Given the description of an element on the screen output the (x, y) to click on. 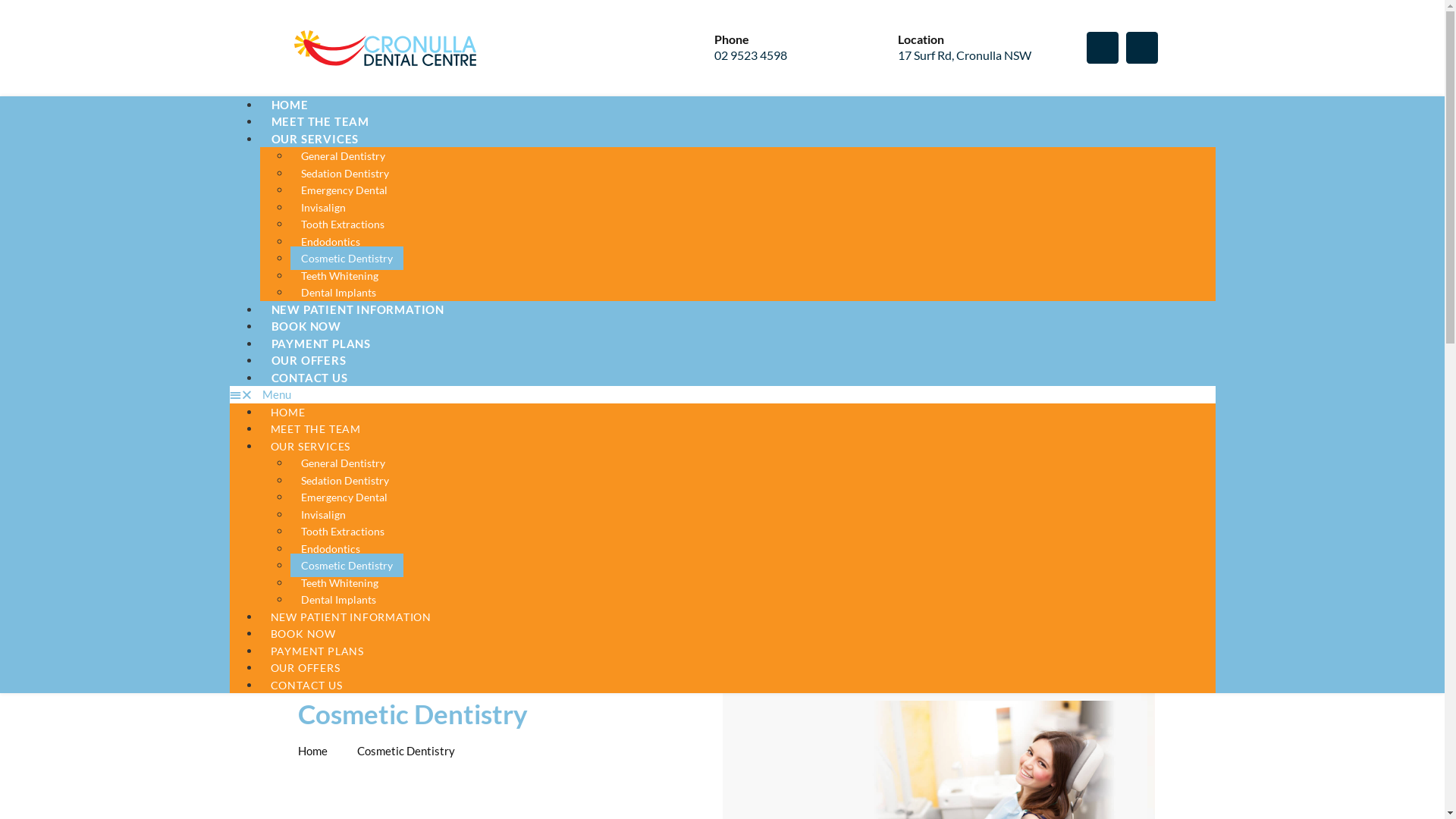
MEET THE TEAM Element type: text (319, 120)
Sedation Dentistry Element type: text (343, 173)
NEW PATIENT INFORMATION Element type: text (357, 308)
Invisalign Element type: text (322, 207)
Endodontics Element type: text (329, 241)
HOME Element type: text (287, 411)
Endodontics Element type: text (329, 548)
Teeth Whitening Element type: text (338, 582)
Location
17 Surf Rd, Cronulla NSW Element type: text (961, 53)
BOOK NOW Element type: text (305, 325)
BOOK NOW Element type: text (302, 633)
CONTACT US Element type: text (308, 377)
Dental Implants Element type: text (337, 599)
Phone
02 9523 4598 Element type: text (770, 53)
General Dentistry Element type: text (342, 155)
Teeth Whitening Element type: text (338, 275)
Home Element type: text (311, 750)
PAYMENT PLANS Element type: text (316, 650)
Tooth Extractions Element type: text (341, 530)
HOME Element type: text (289, 104)
Invisalign Element type: text (322, 514)
PAYMENT PLANS Element type: text (320, 343)
Dental Implants Element type: text (337, 292)
NEW PATIENT INFORMATION Element type: text (350, 616)
Tooth Extractions Element type: text (341, 223)
OUR SERVICES Element type: text (314, 138)
Emergency Dental Element type: text (343, 496)
CONTACT US Element type: text (305, 684)
OUR OFFERS Element type: text (304, 667)
MEET THE TEAM Element type: text (314, 428)
Cosmetic Dentistry Element type: text (345, 257)
Cosmetic Dentistry Element type: text (397, 750)
OUR OFFERS Element type: text (308, 359)
Cosmetic Dentistry Element type: text (345, 565)
General Dentistry Element type: text (342, 462)
OUR SERVICES Element type: text (309, 446)
Emergency Dental Element type: text (343, 189)
Sedation Dentistry Element type: text (343, 480)
